Given the description of an element on the screen output the (x, y) to click on. 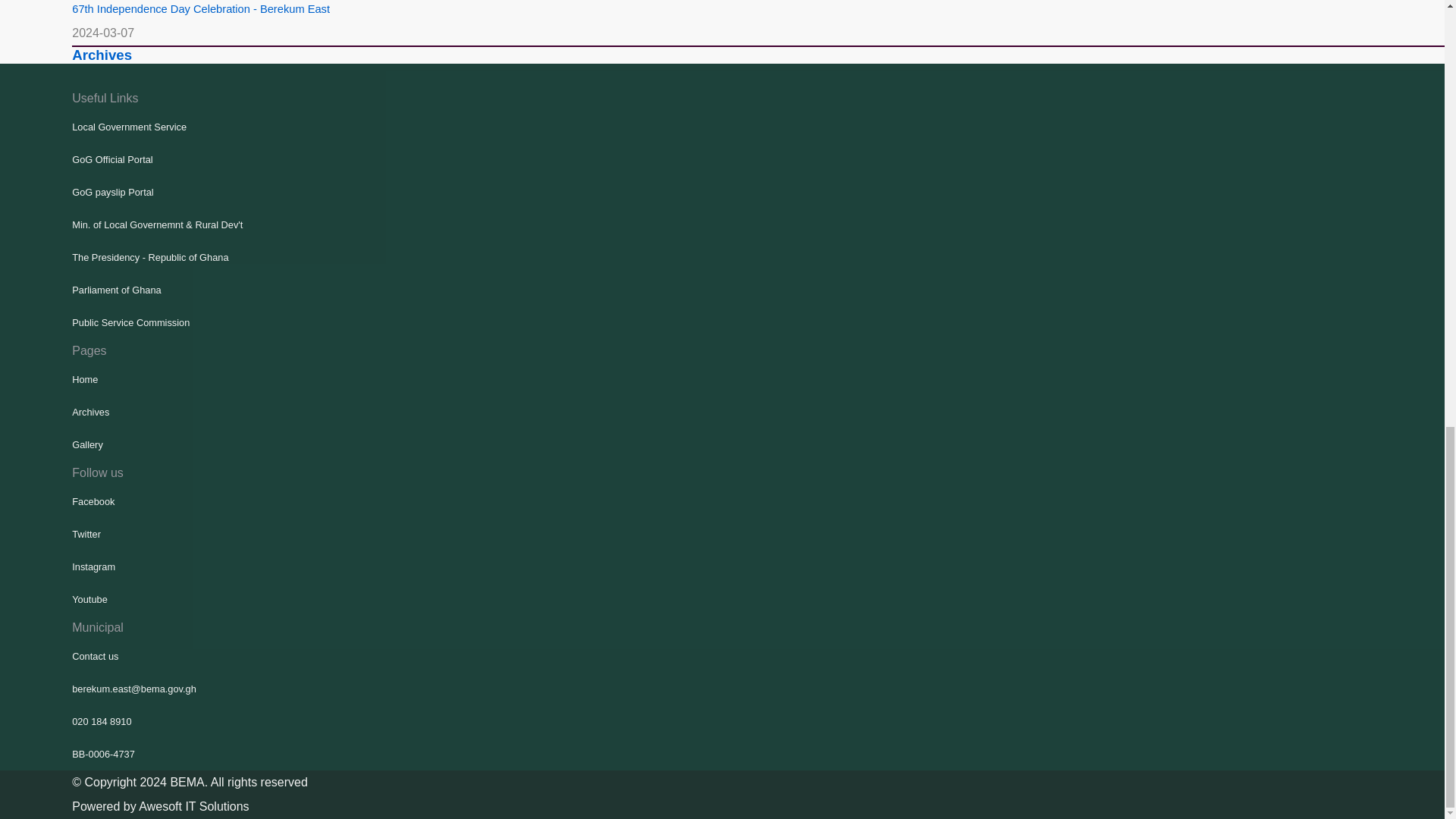
67th Independence Day Celebration - Berekum East (200, 9)
